Given the description of an element on the screen output the (x, y) to click on. 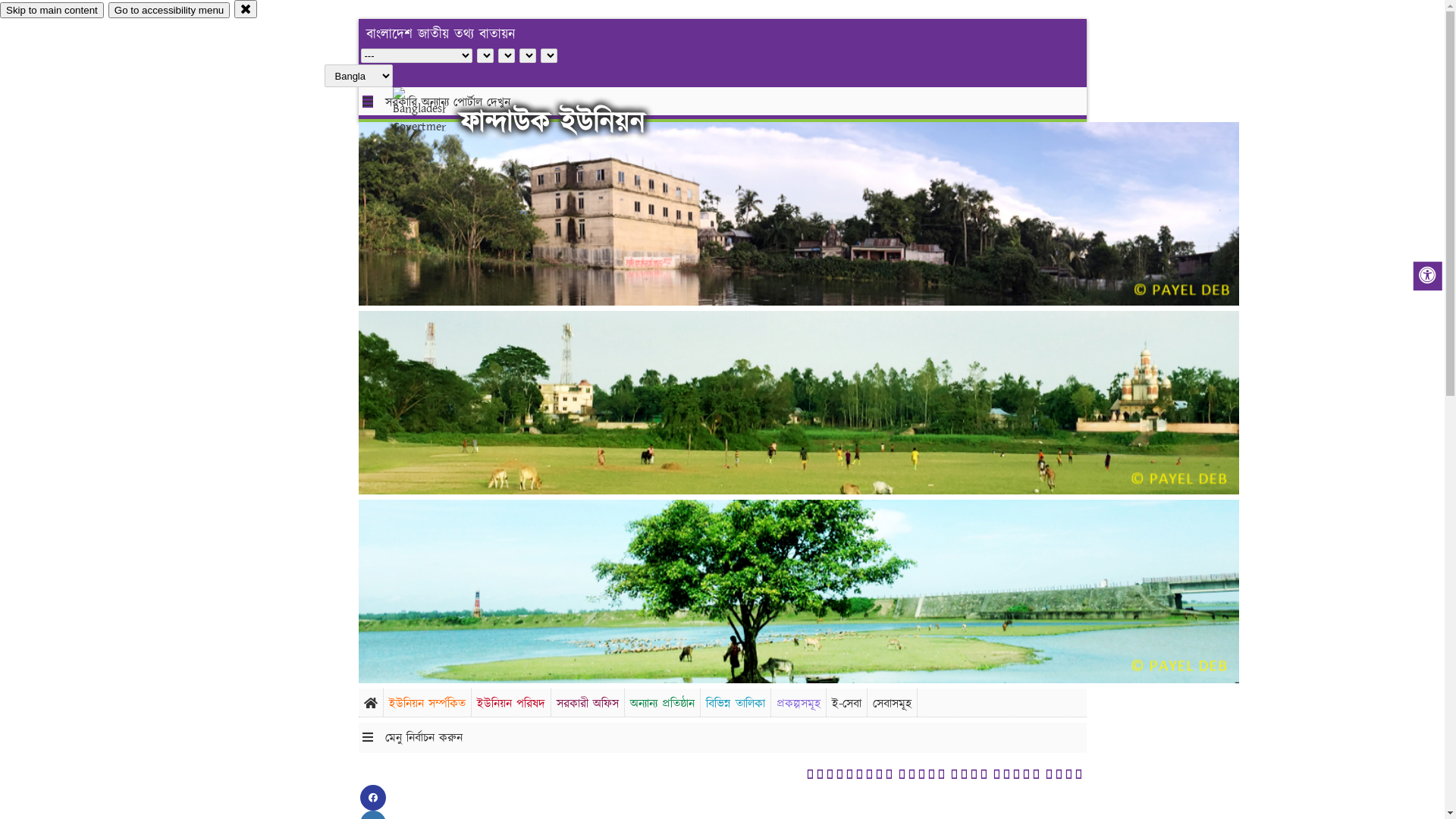
Skip to main content Element type: text (51, 10)
close Element type: hover (245, 9)

                
             Element type: hover (431, 120)
Go to accessibility menu Element type: text (168, 10)
